Given the description of an element on the screen output the (x, y) to click on. 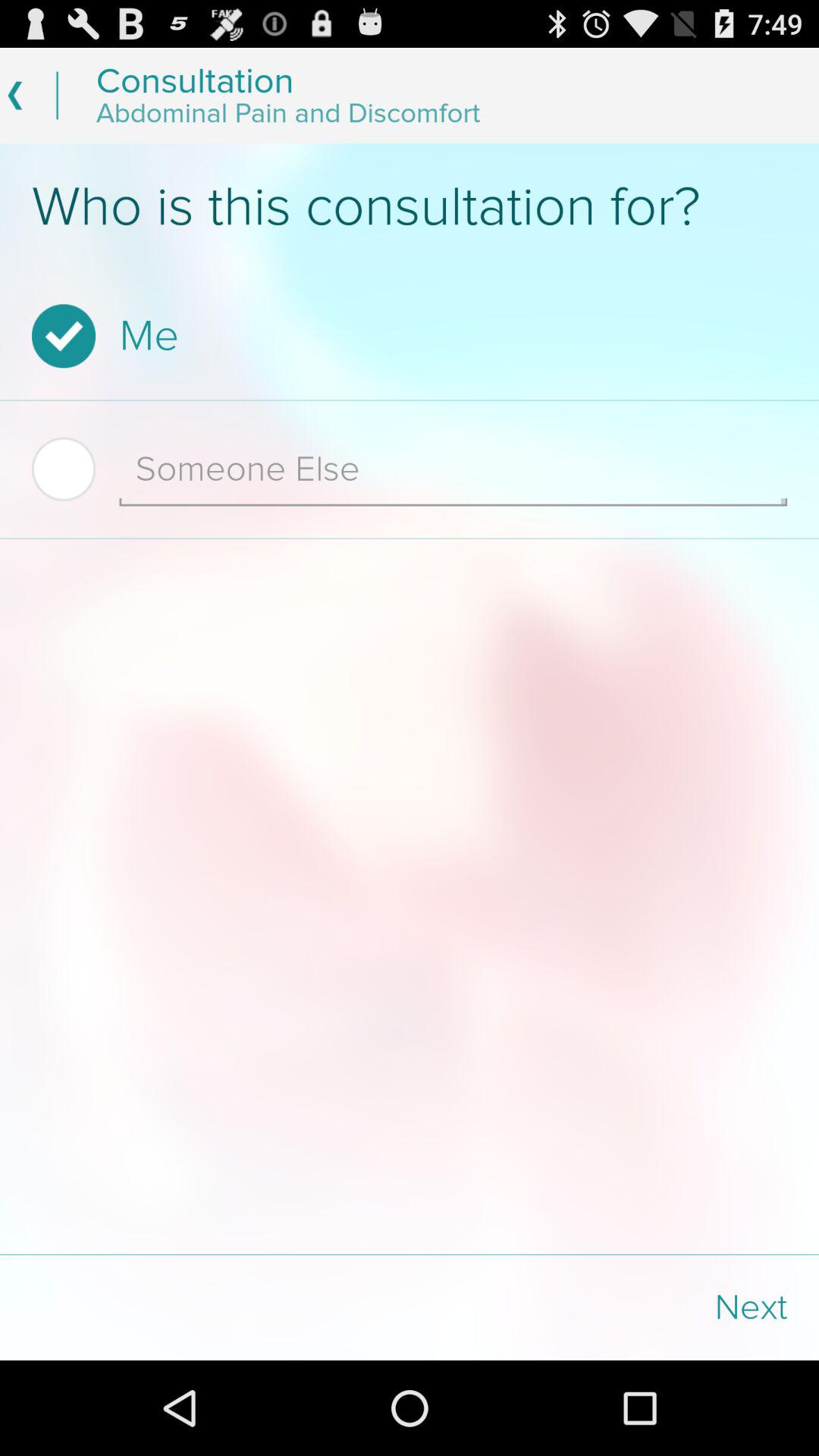
tap item below the me checkbox (453, 469)
